Given the description of an element on the screen output the (x, y) to click on. 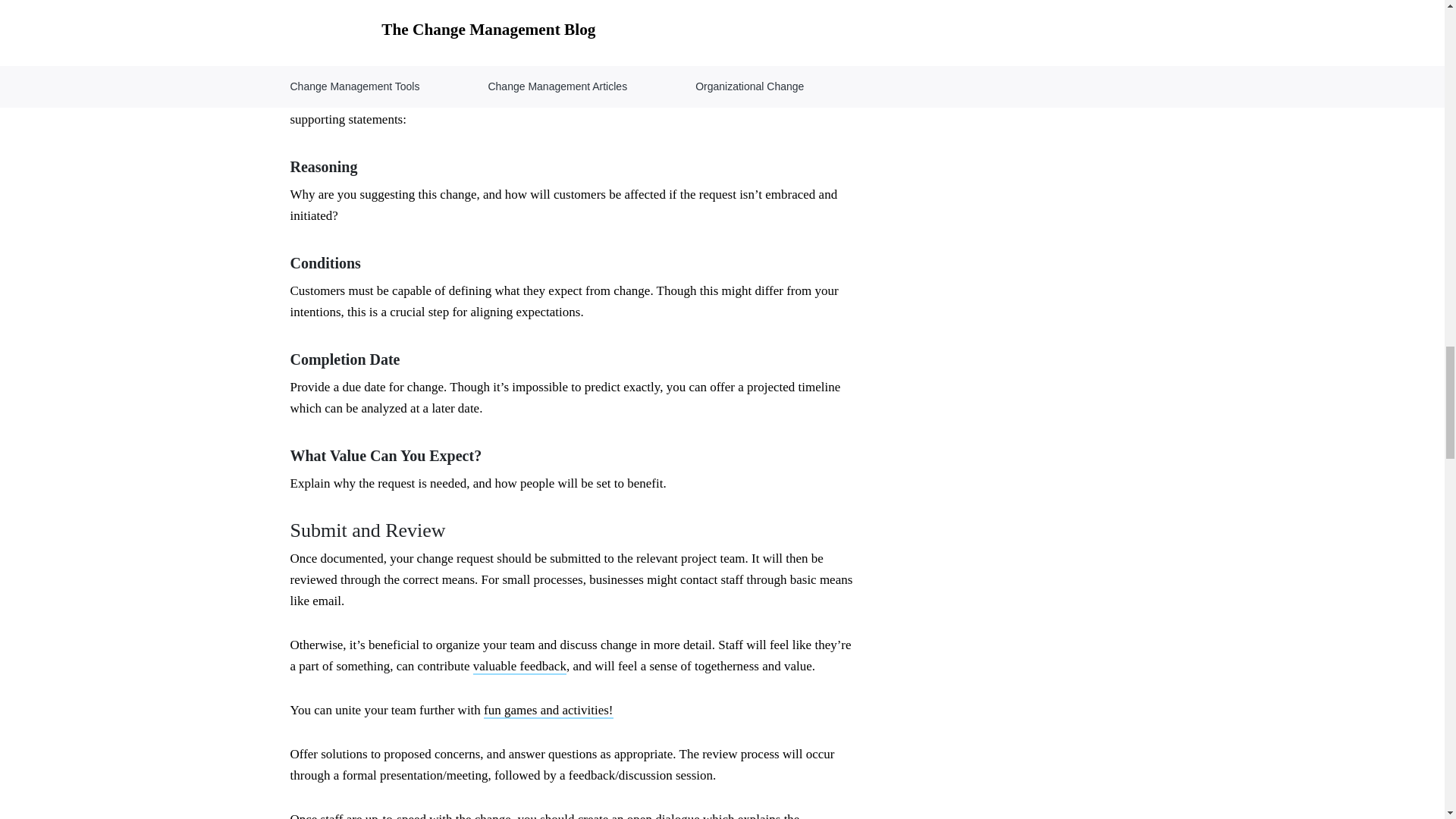
valuable feedback (519, 666)
fun games and activities! (547, 710)
